Given the description of an element on the screen output the (x, y) to click on. 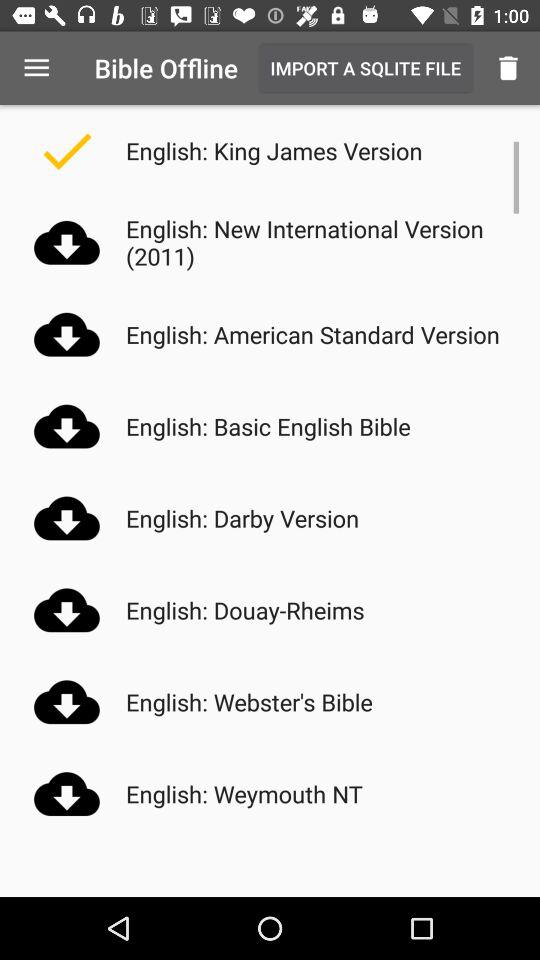
turn off icon to the right of import a sqlite (508, 67)
